Given the description of an element on the screen output the (x, y) to click on. 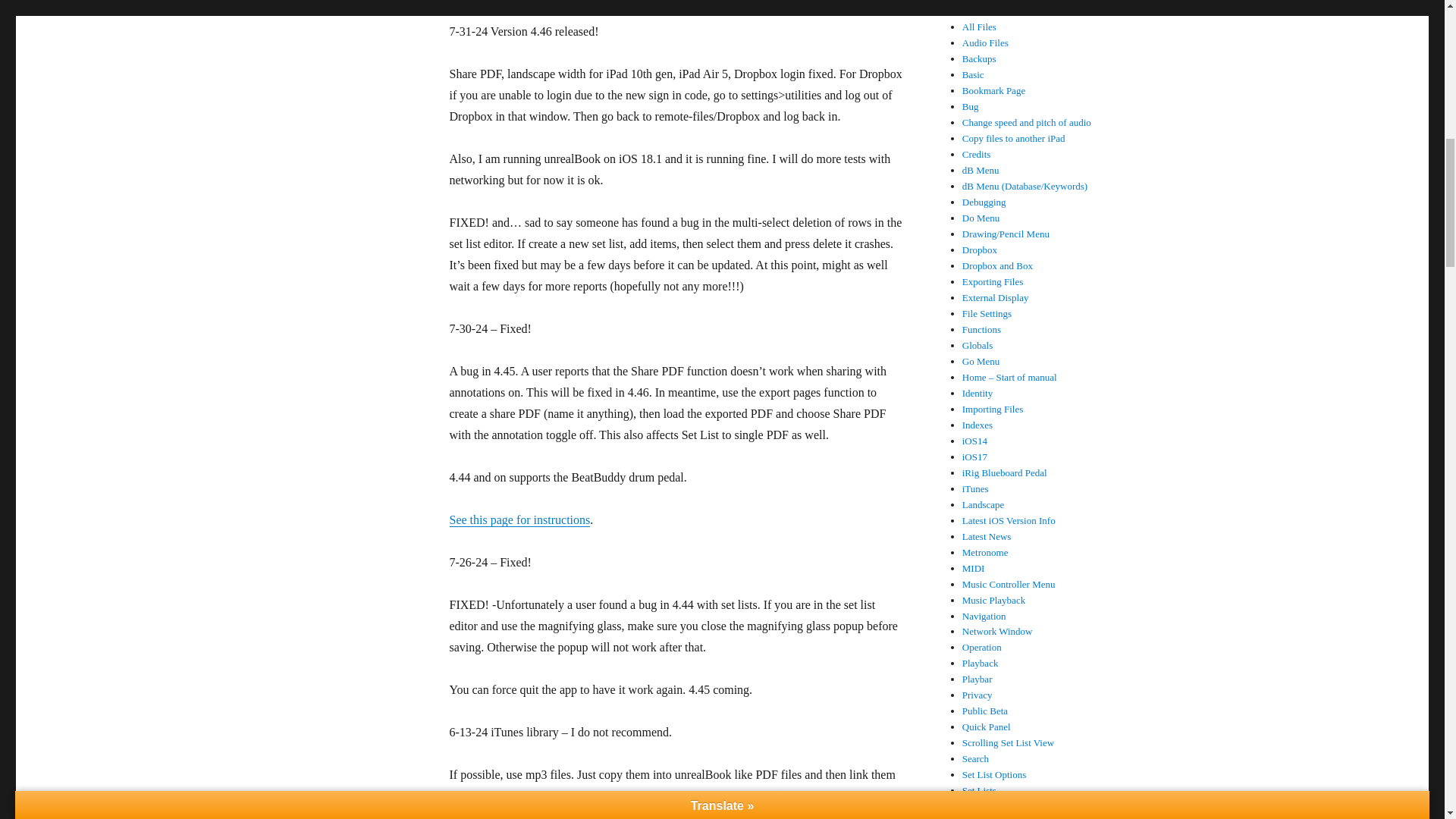
Audio Files (985, 42)
Airturn Bluetooth Pedals (1011, 10)
See this page for instructions (518, 519)
Advanced Tips (992, 0)
Basic (973, 74)
All Files (978, 26)
Bookmark Page (993, 90)
Backups (978, 58)
Bug (970, 106)
